Given the description of an element on the screen output the (x, y) to click on. 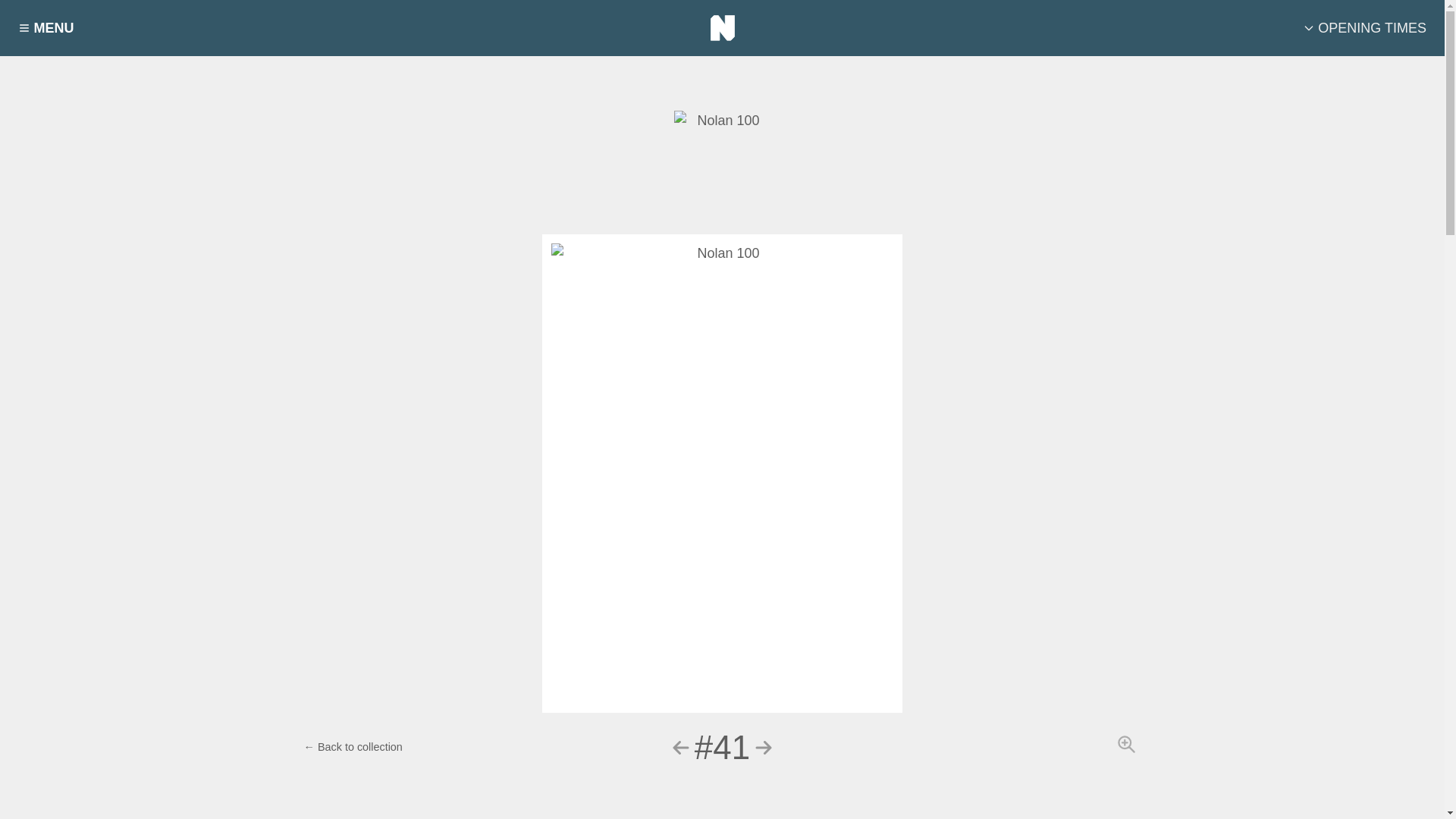
OPENING TIMES (1364, 28)
MENU (45, 28)
Zoom (1126, 743)
